Given the description of an element on the screen output the (x, y) to click on. 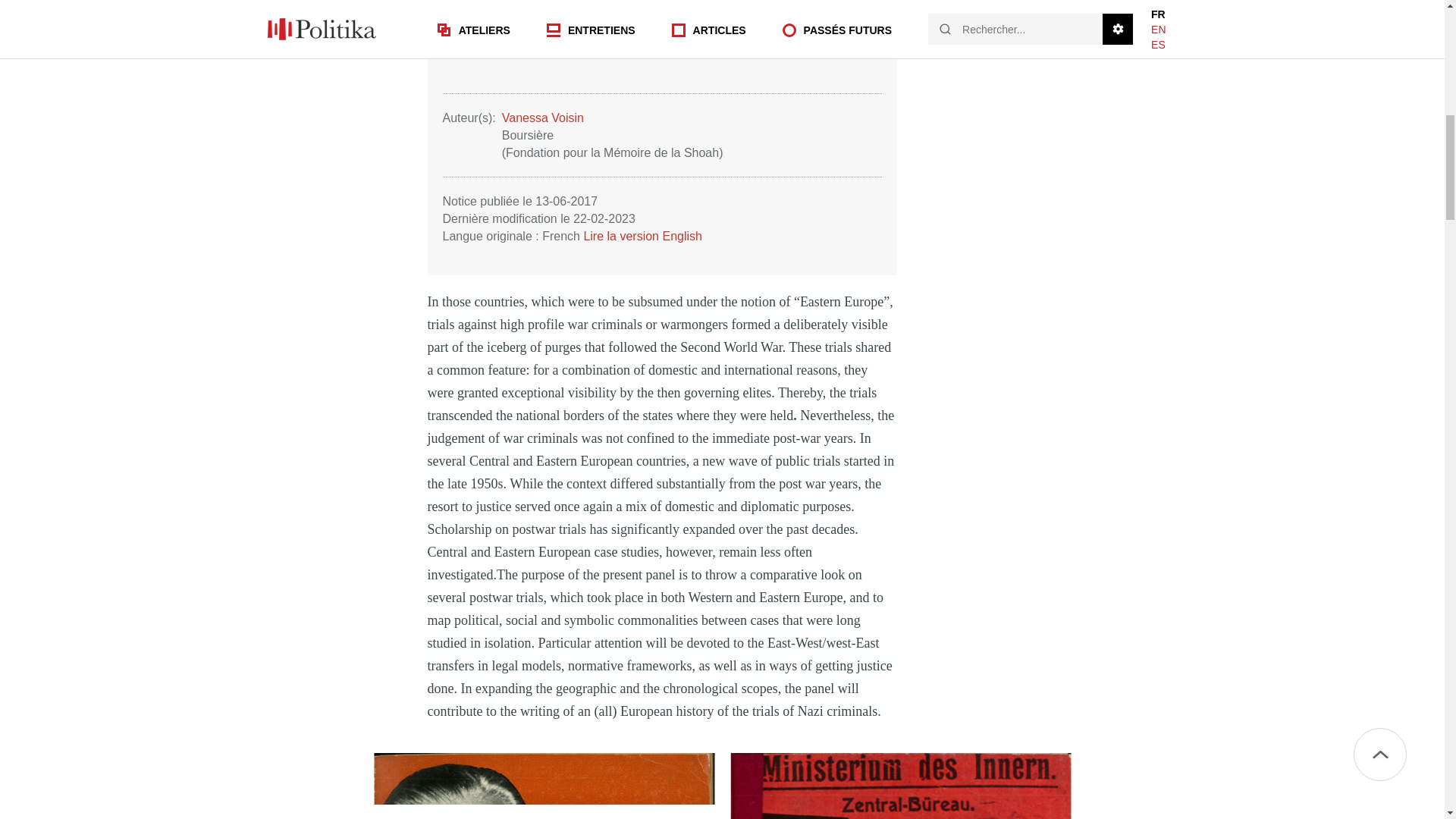
Globke (543, 785)
Globke (899, 785)
Vanessa Voisin (542, 117)
Lire la version English (642, 236)
